Given the description of an element on the screen output the (x, y) to click on. 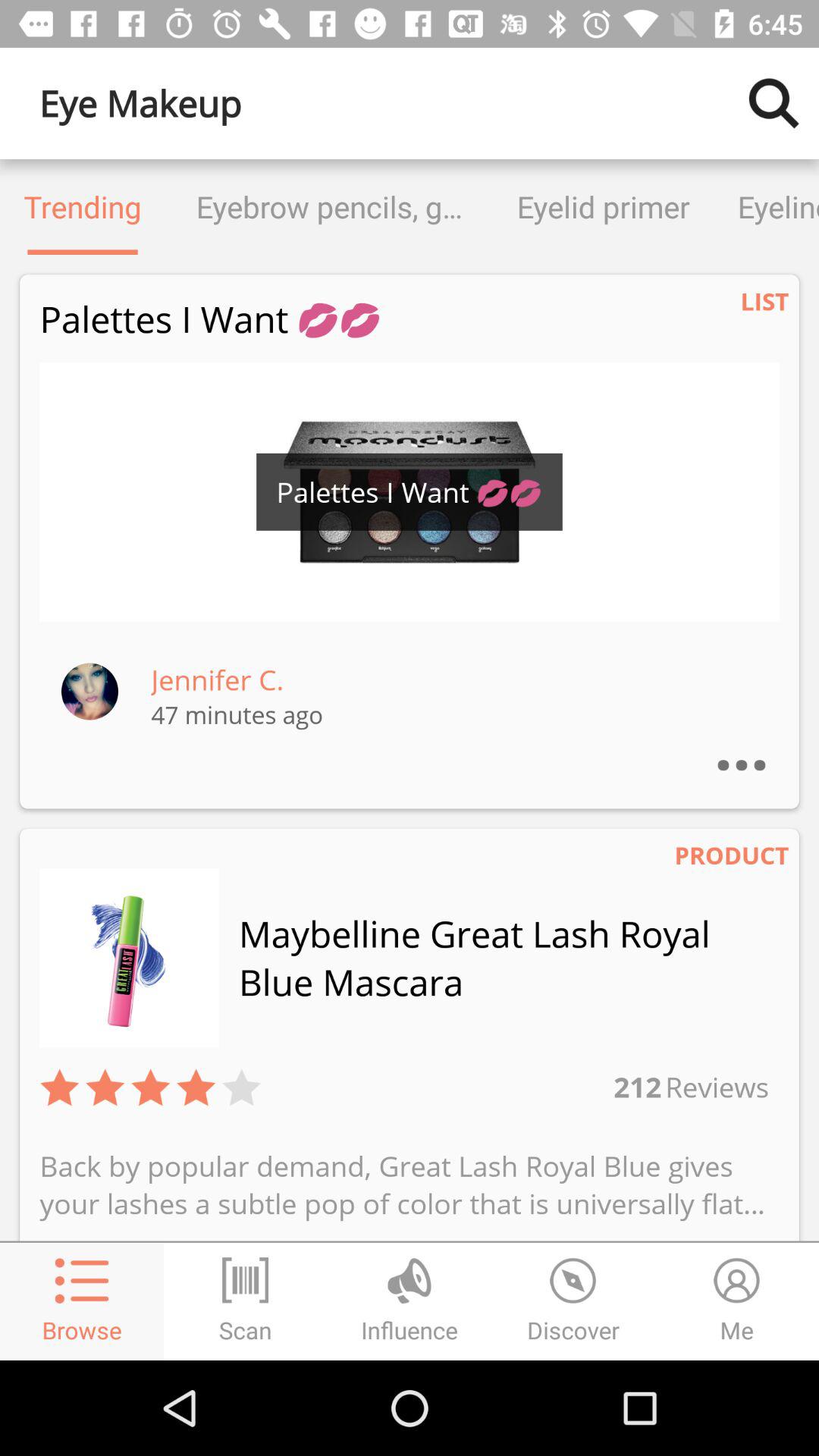
choose the item next to the jennifer c. (89, 691)
